Given the description of an element on the screen output the (x, y) to click on. 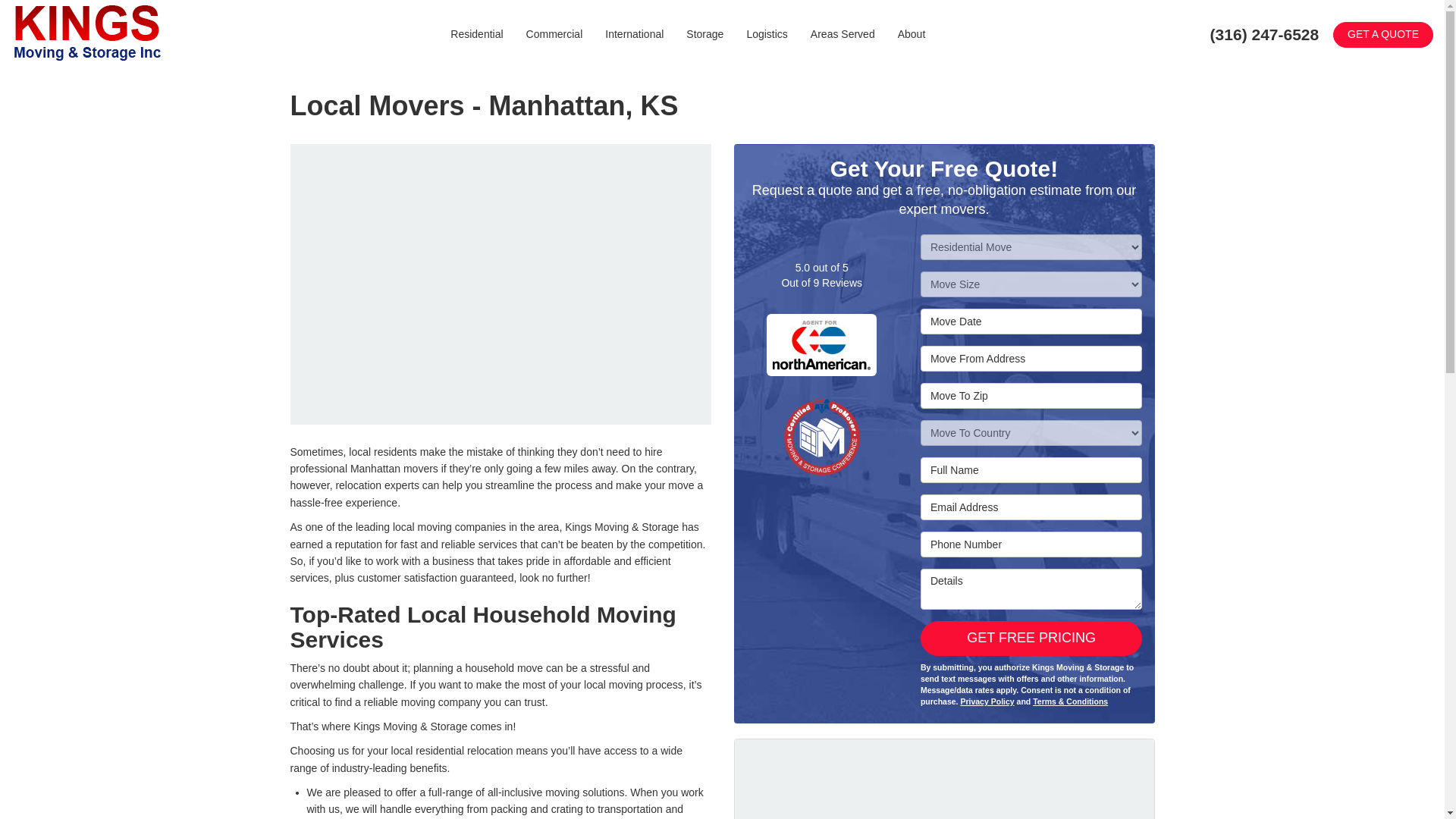
Residential (476, 33)
GET A QUOTE (1382, 34)
GET A QUOTE (1382, 34)
Logistics (766, 33)
Commercial (554, 33)
Areas Served (842, 33)
International (634, 33)
